Given the description of an element on the screen output the (x, y) to click on. 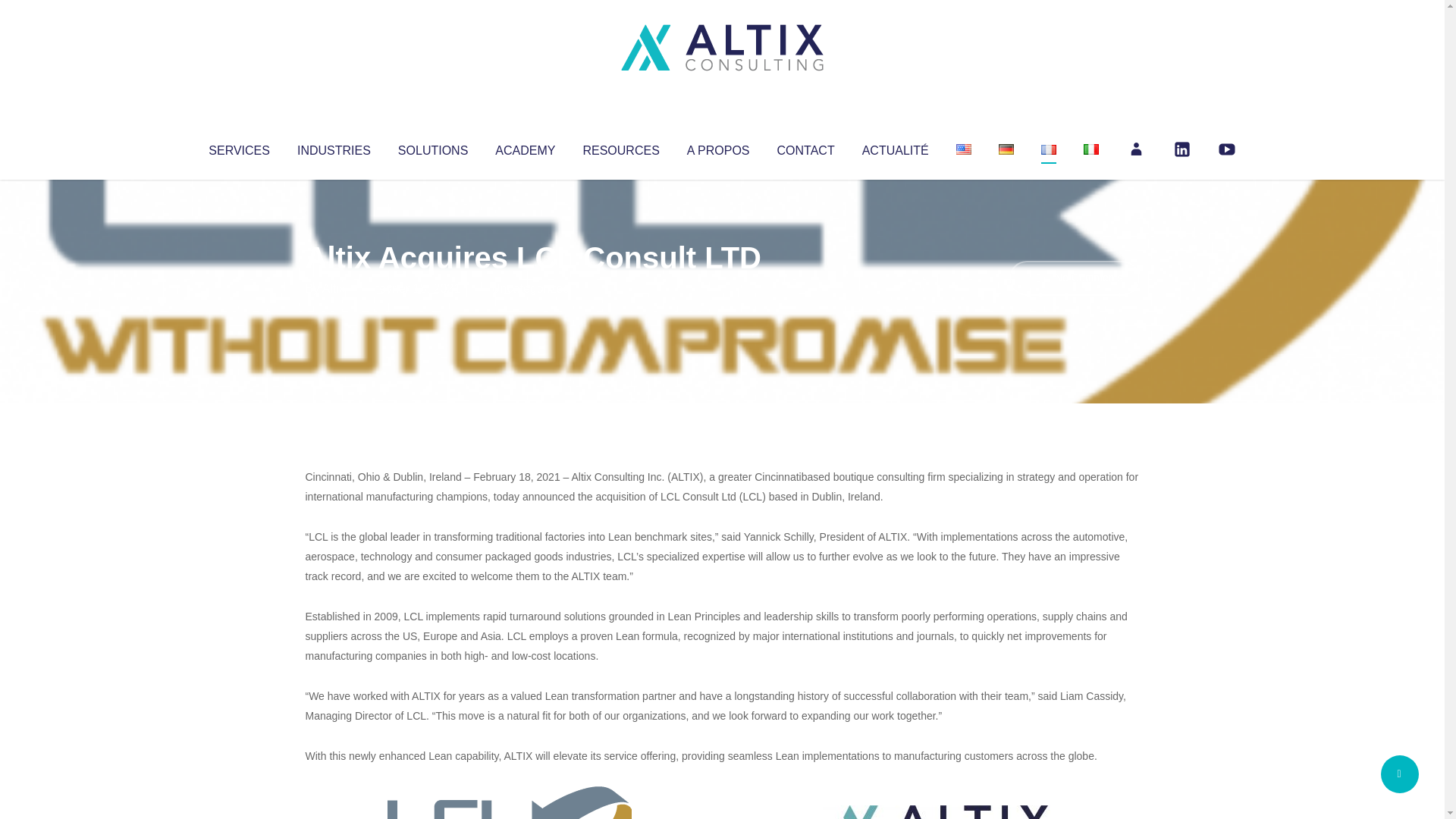
No Comments (1073, 278)
SOLUTIONS (432, 146)
ACADEMY (524, 146)
Altix (333, 287)
RESOURCES (620, 146)
Articles par Altix (333, 287)
A PROPOS (718, 146)
SERVICES (238, 146)
Uncategorized (530, 287)
INDUSTRIES (334, 146)
